Given the description of an element on the screen output the (x, y) to click on. 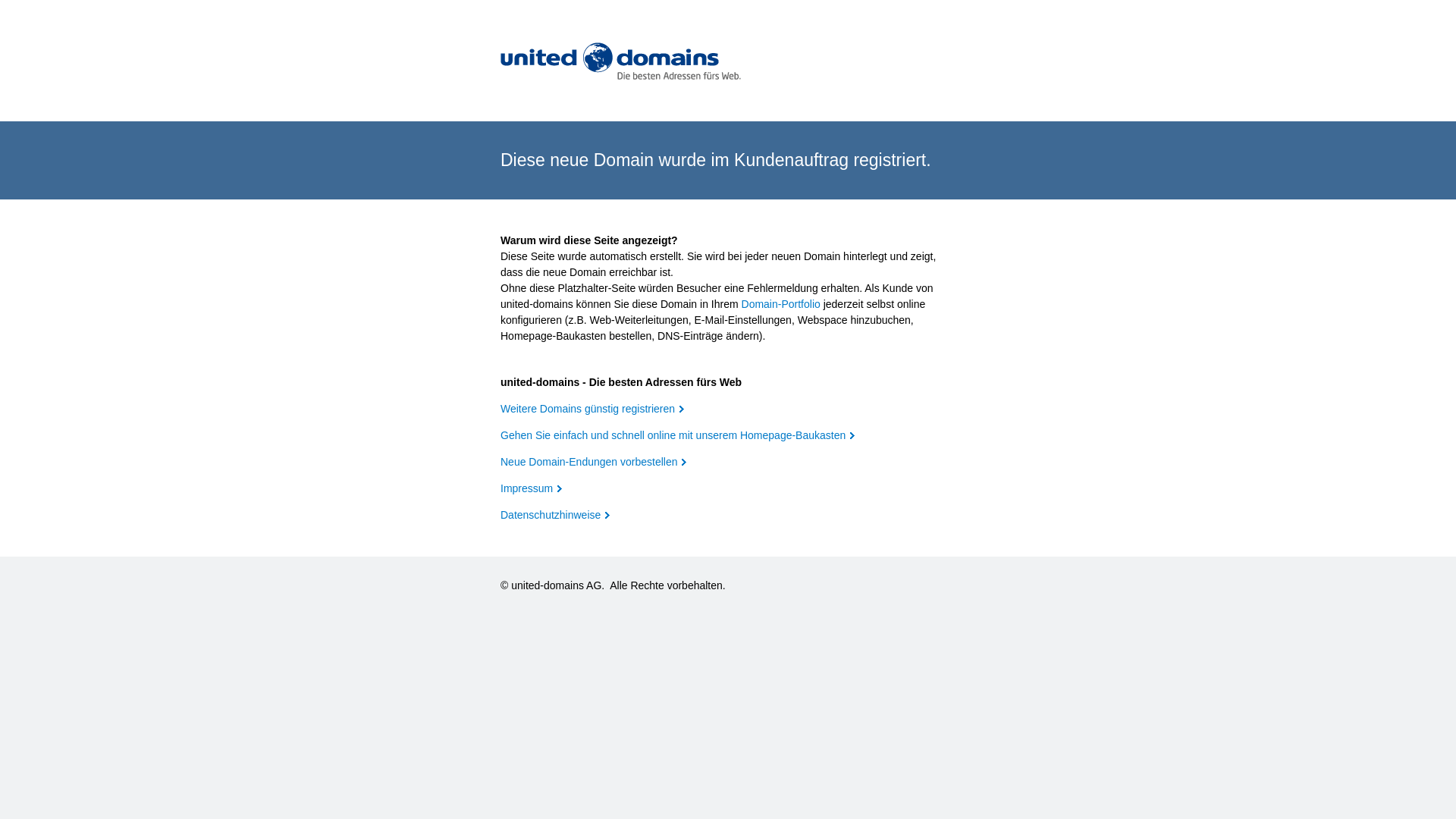
Domain-Portfolio Element type: text (780, 304)
Datenschutzhinweise Element type: text (554, 514)
Neue Domain-Endungen vorbestellen Element type: text (593, 461)
Impressum Element type: text (530, 488)
